Given the description of an element on the screen output the (x, y) to click on. 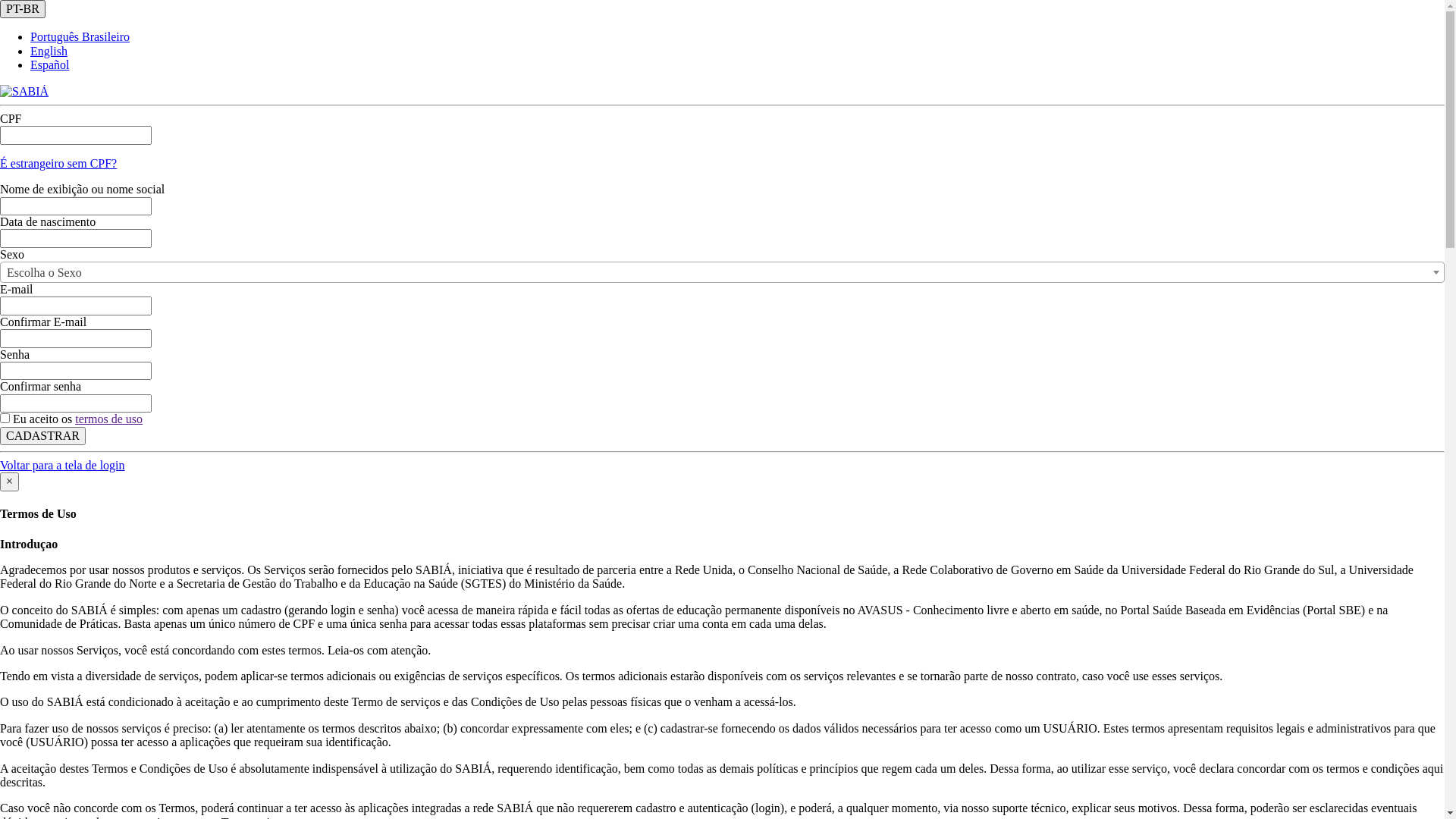
Voltar para a tela de login Element type: text (62, 464)
PT-BR Element type: text (22, 9)
CADASTRAR Element type: text (42, 435)
termos de uso Element type: text (108, 418)
English Element type: text (48, 50)
